Given the description of an element on the screen output the (x, y) to click on. 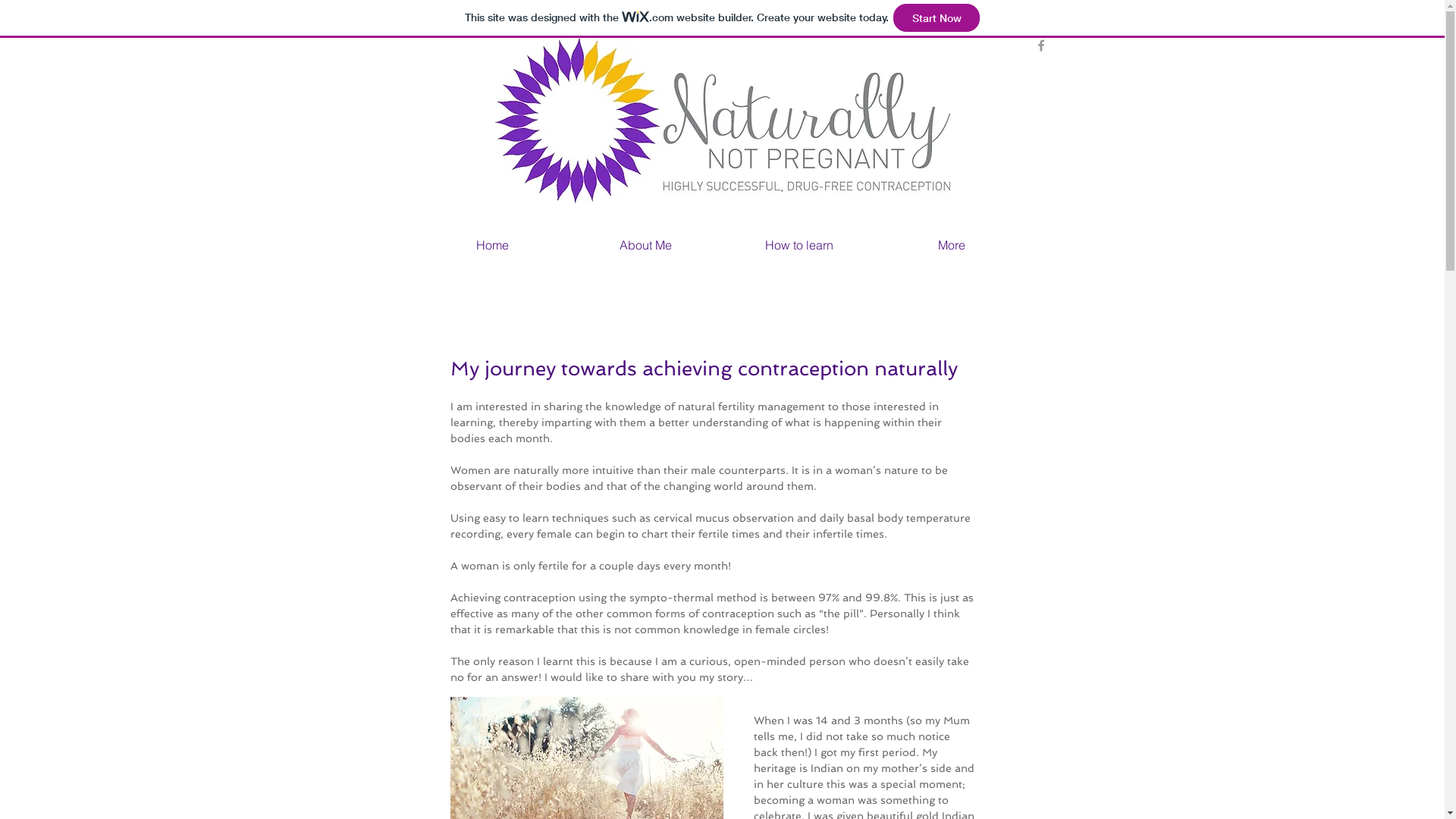
NatNotPreg next to Deep Purple Yellow3.jpg Element type: hover (721, 120)
About Me Element type: text (644, 243)
How to learn Element type: text (798, 243)
Home Element type: text (491, 243)
